Given the description of an element on the screen output the (x, y) to click on. 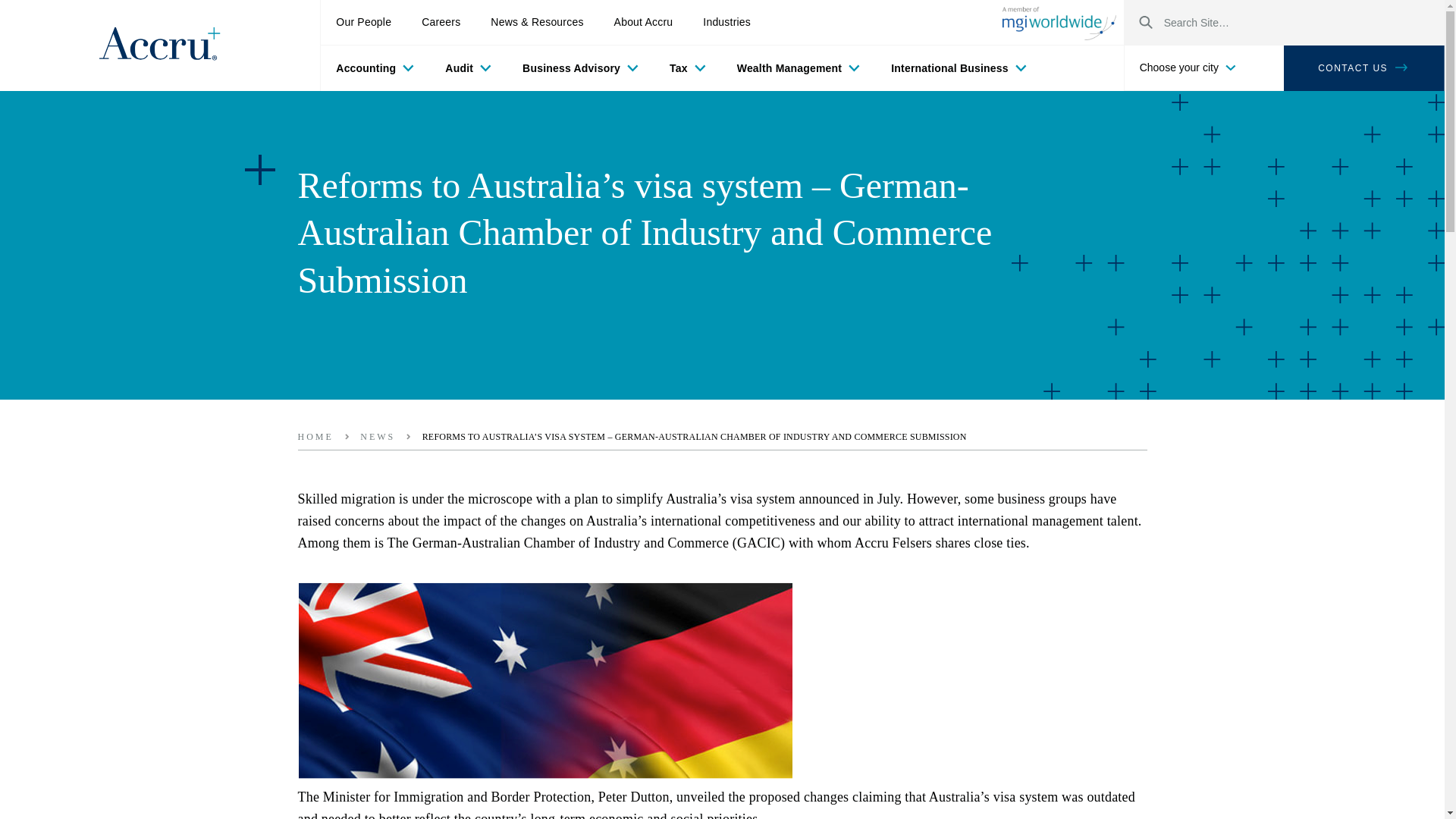
Careers (441, 22)
Our People (363, 22)
Accounting (374, 67)
Industries (726, 22)
Business Advisory (579, 67)
Audit (467, 67)
Tax (687, 67)
About Accru (643, 22)
Wealth Management (799, 67)
